Given the description of an element on the screen output the (x, y) to click on. 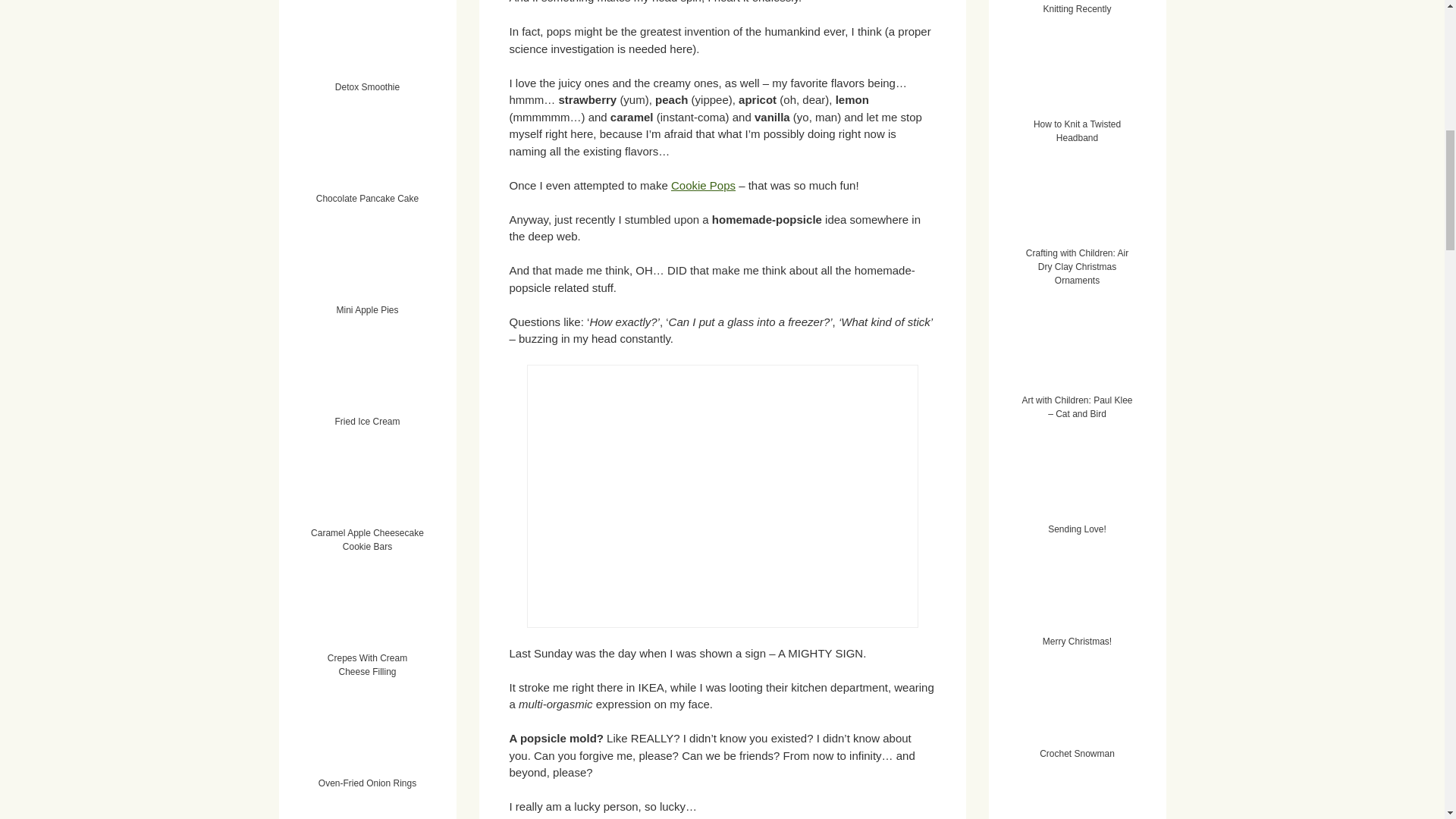
Cookie Pops (703, 185)
homemade-popsicle (721, 496)
